Given the description of an element on the screen output the (x, y) to click on. 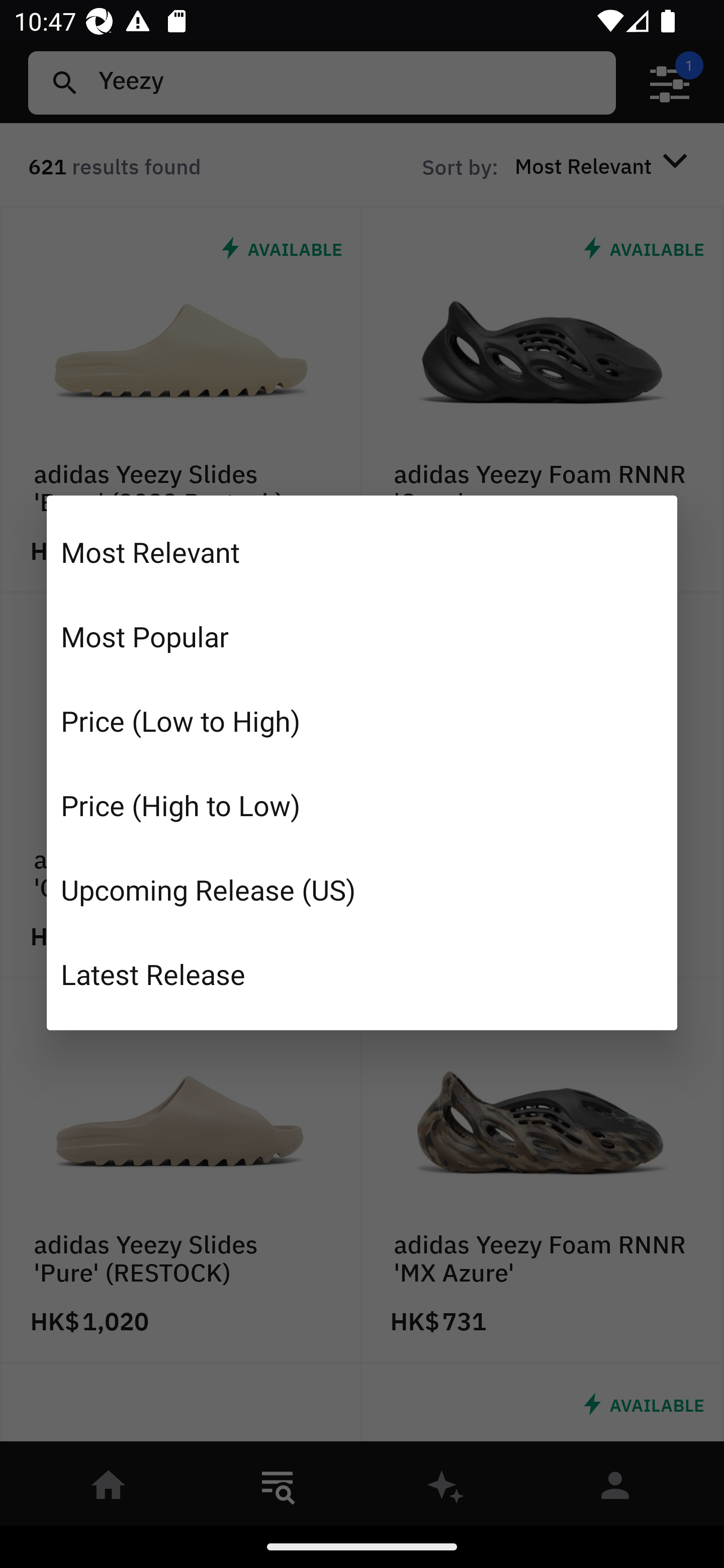
Most Relevant (361, 551)
Most Popular (361, 636)
Price (Low to High) (361, 720)
Price (High to Low) (361, 804)
Upcoming Release (US) (361, 888)
Latest Release (361, 973)
